Given the description of an element on the screen output the (x, y) to click on. 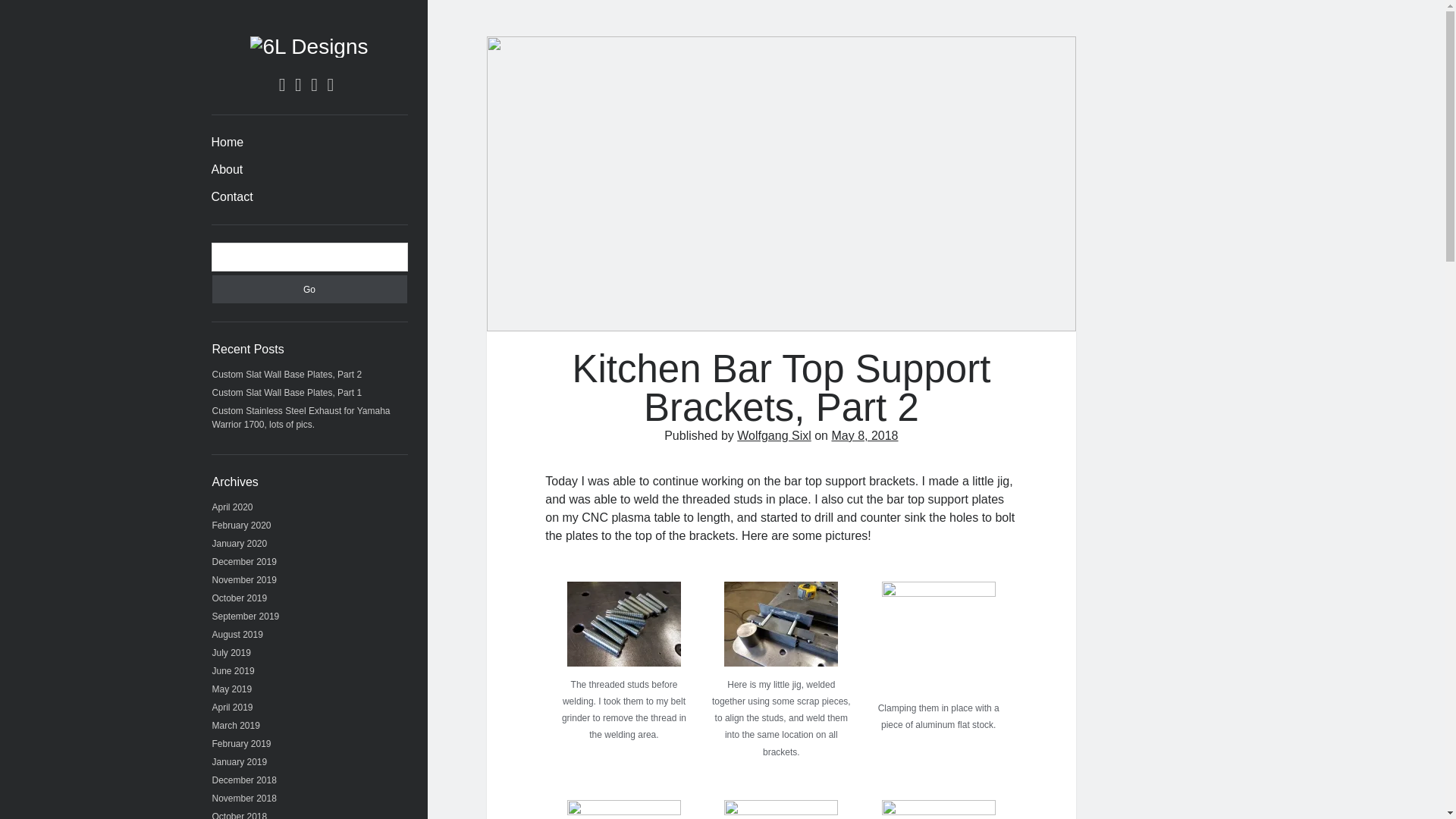
Go (309, 289)
About (227, 169)
November 2019 (244, 579)
March 2019 (236, 725)
Custom Slat Wall Base Plates, Part 1 (287, 392)
December 2018 (244, 779)
September 2019 (245, 615)
October 2019 (239, 597)
April 2019 (232, 706)
November 2018 (244, 798)
February 2020 (241, 525)
Contact (231, 197)
Custom Slat Wall Base Plates, Part 2 (287, 374)
July 2019 (231, 652)
